Given the description of an element on the screen output the (x, y) to click on. 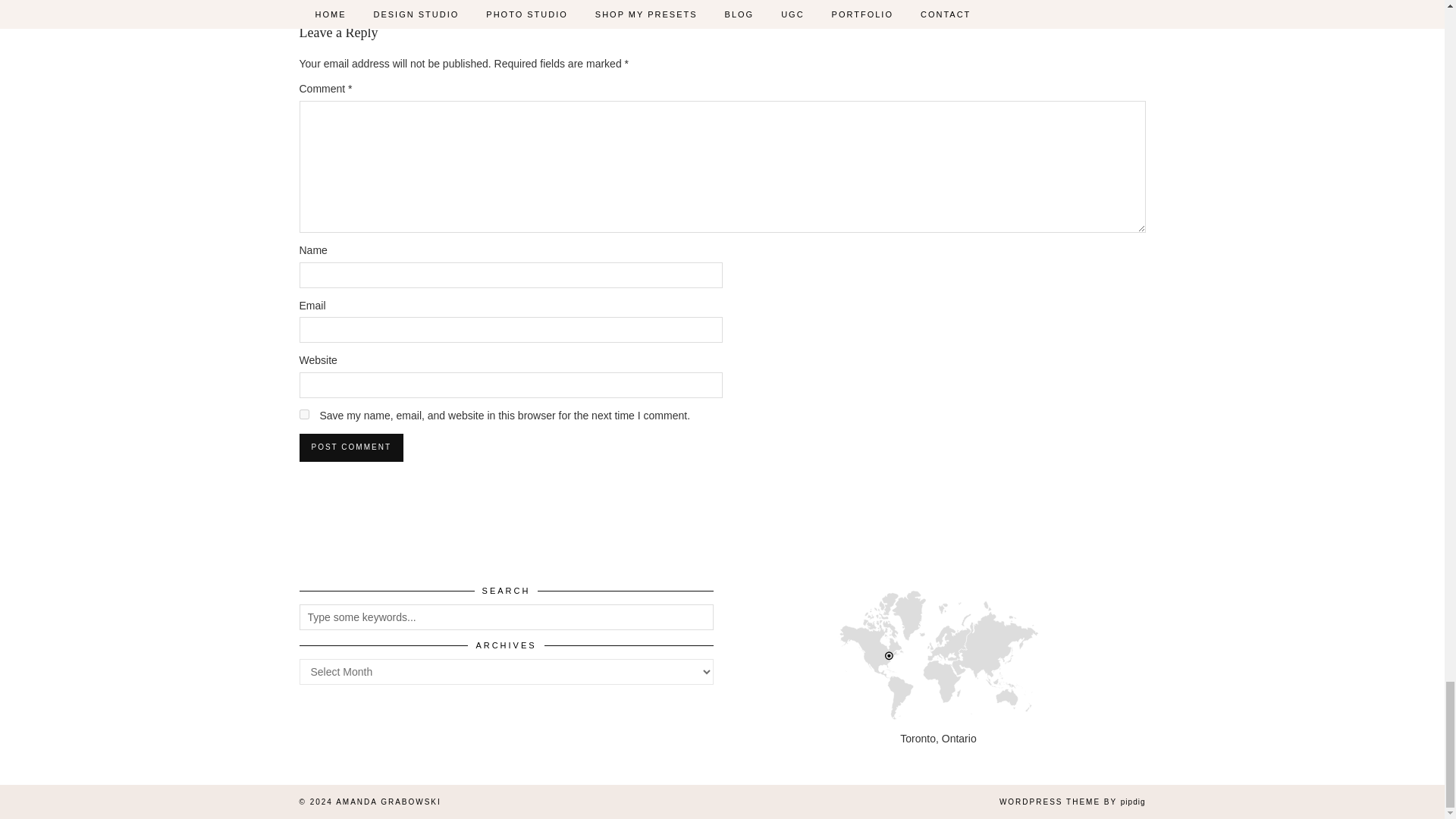
yes (303, 414)
Post Comment (350, 447)
